Given the description of an element on the screen output the (x, y) to click on. 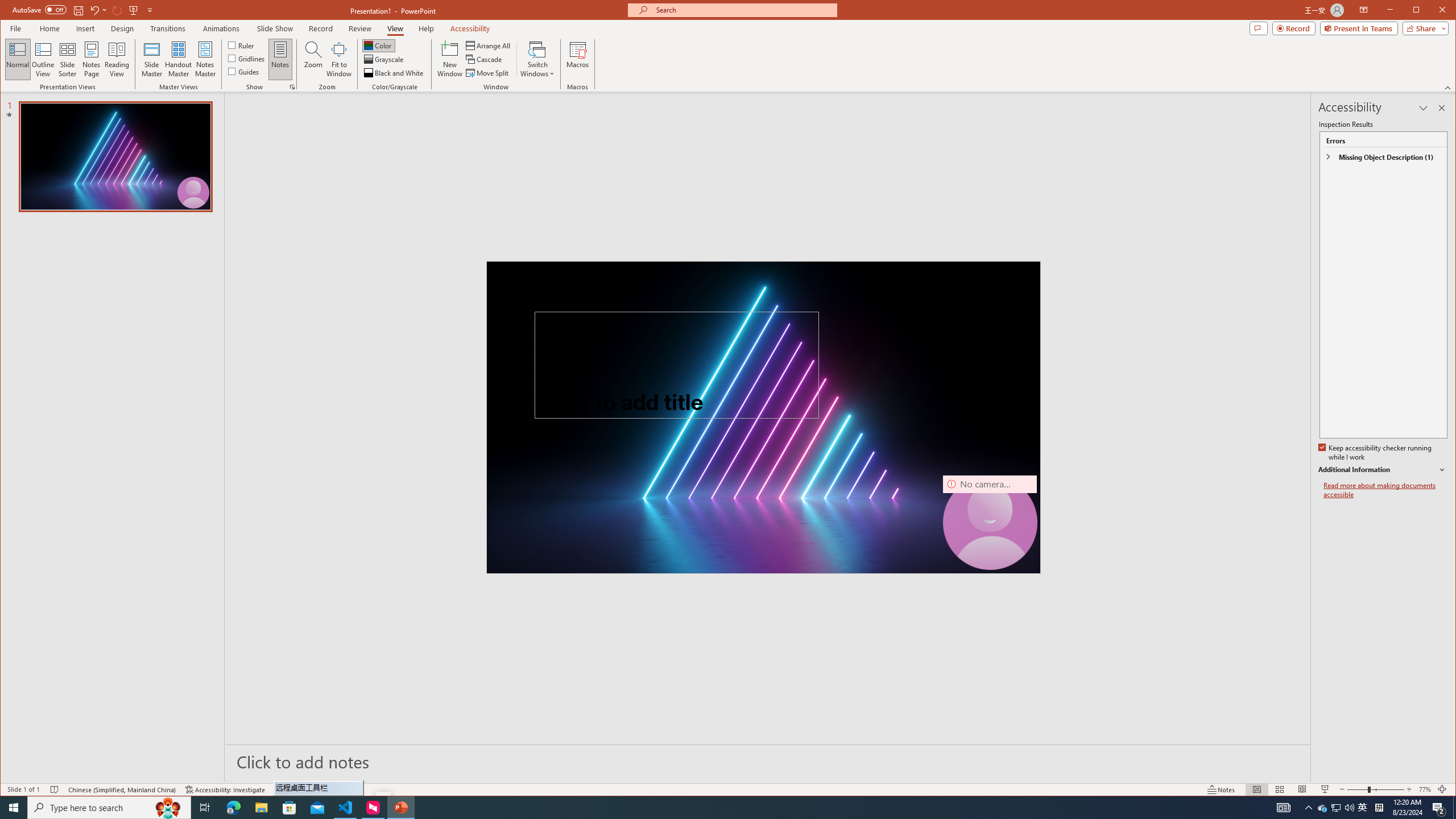
Move Split (488, 72)
